Given the description of an element on the screen output the (x, y) to click on. 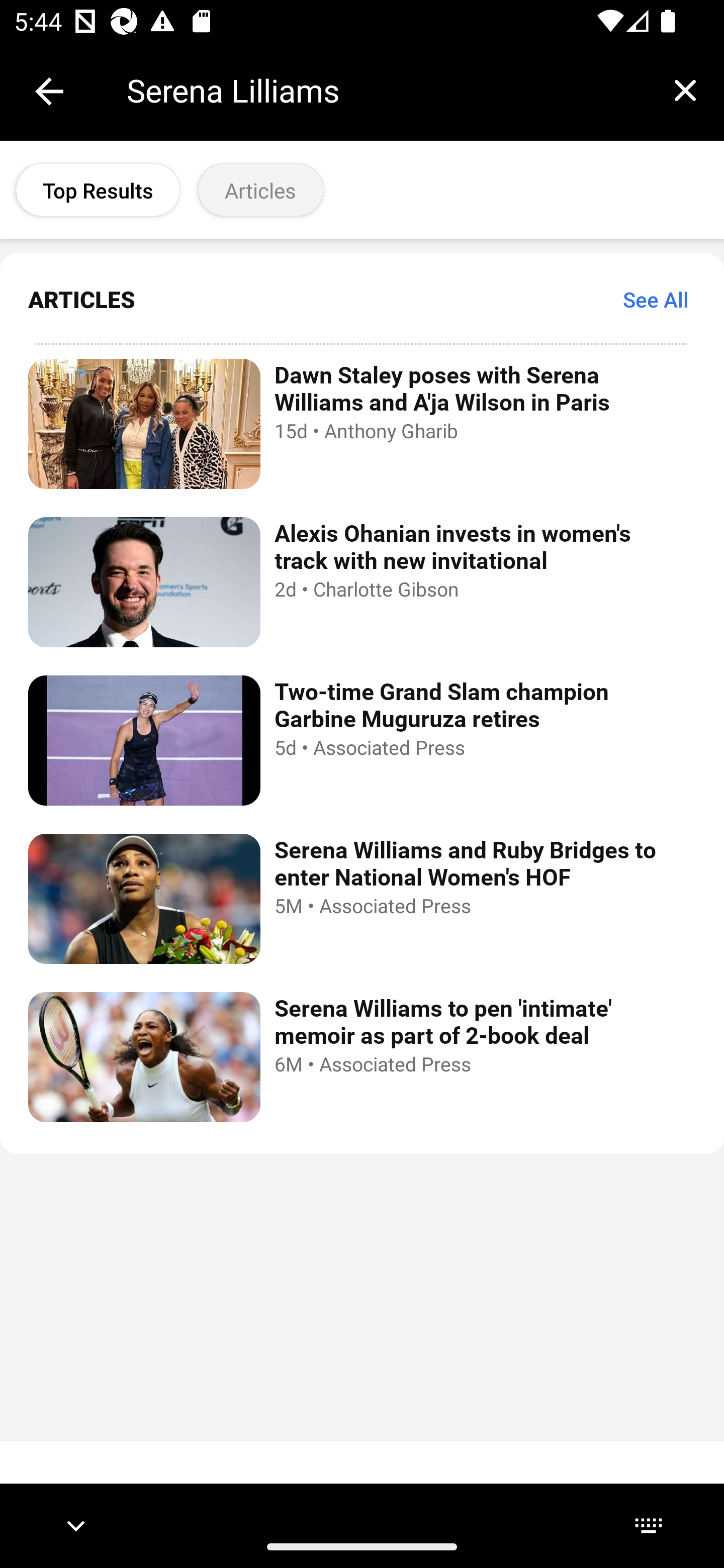
Collapse (49, 91)
Clear query (685, 89)
Serena Lilliams (386, 90)
Top Results (97, 190)
Articles (260, 190)
See All (655, 298)
